Given the description of an element on the screen output the (x, y) to click on. 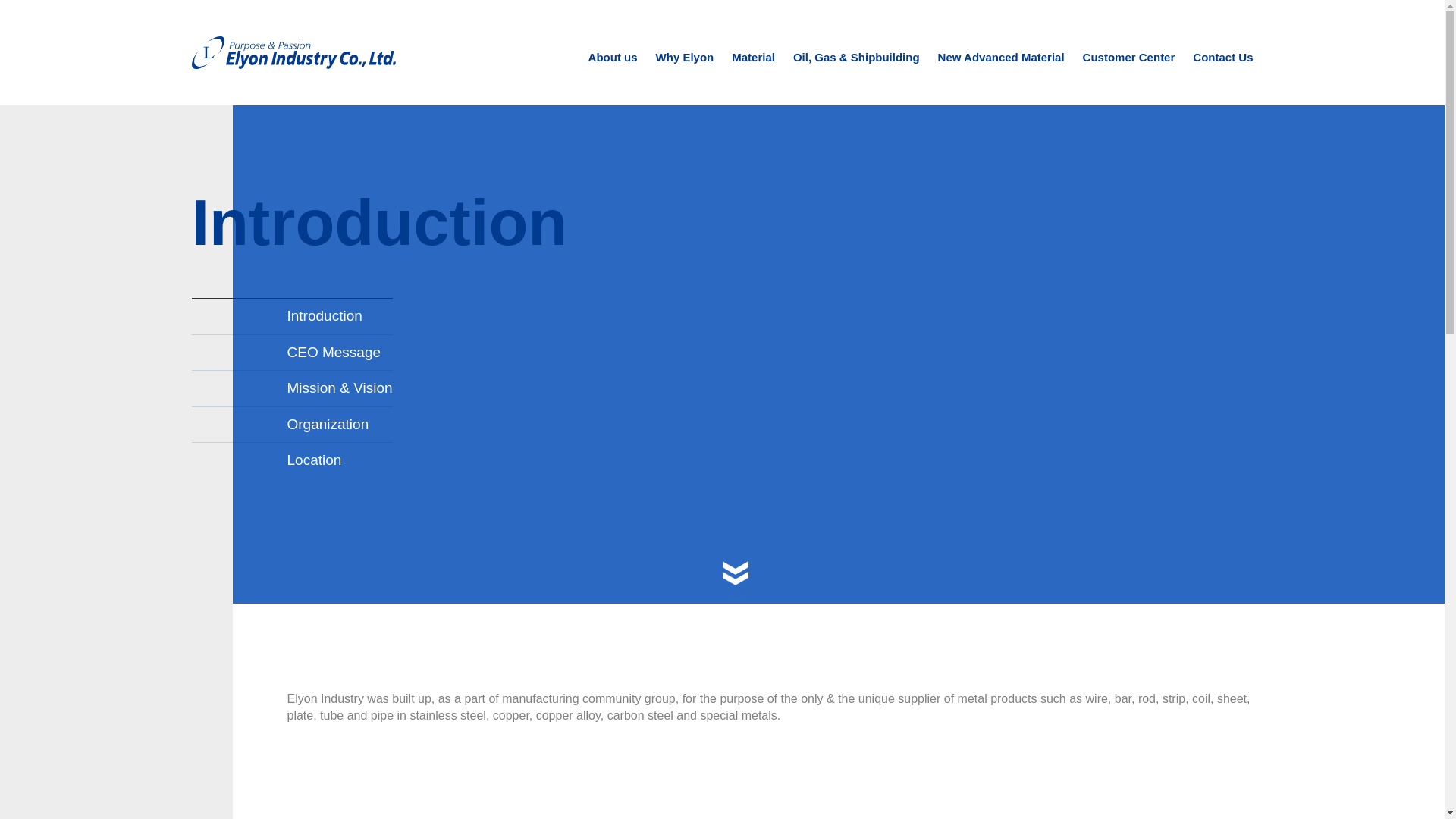
Contact Us (1222, 76)
About us (612, 76)
Why Elyon (685, 76)
New Advanced Material (1000, 76)
Introduction (290, 316)
Customer Center (1128, 76)
CEO Message (290, 352)
